Given the description of an element on the screen output the (x, y) to click on. 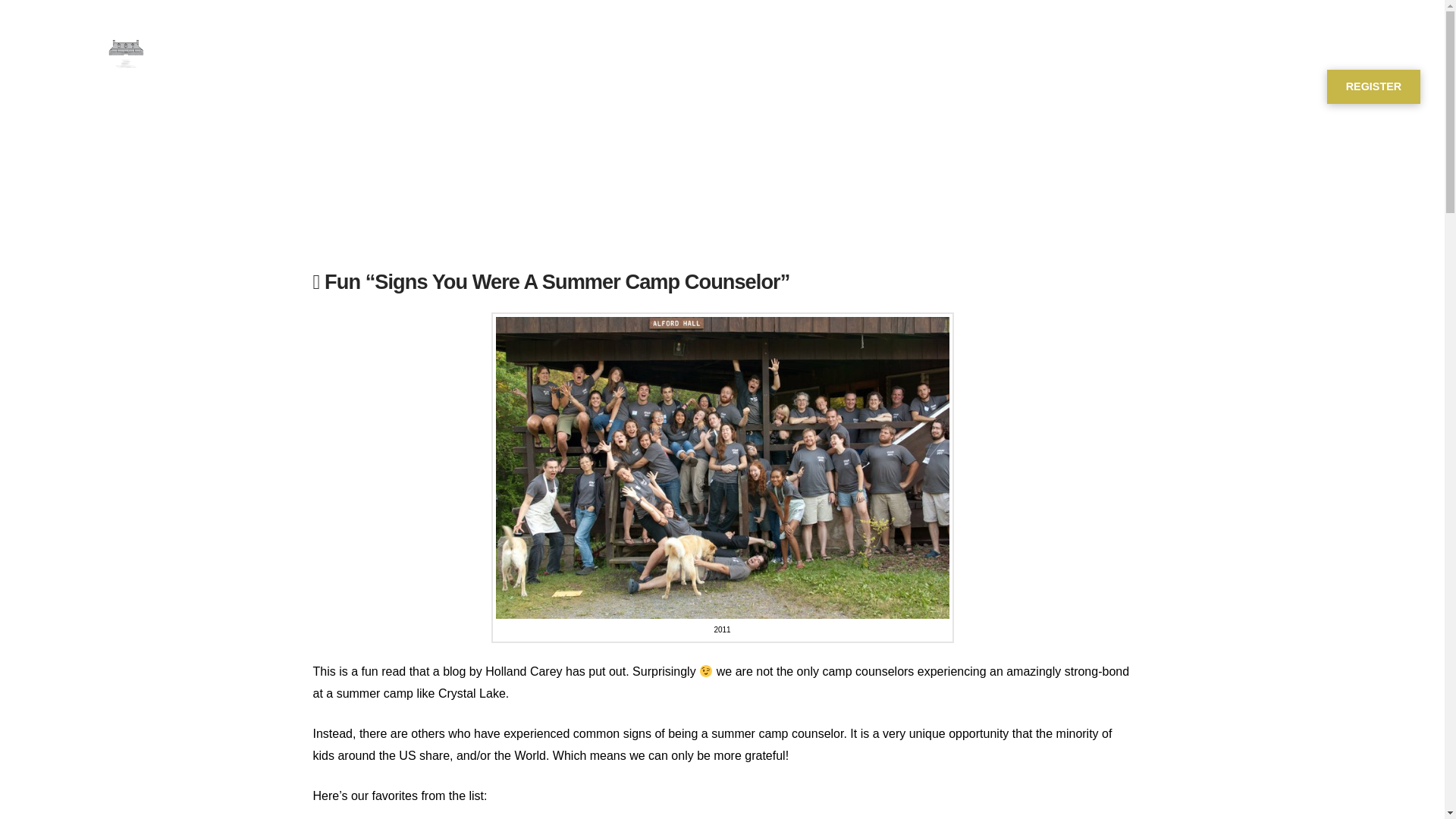
Youth (517, 86)
About (710, 86)
Employment (901, 86)
75th Anniversary (1011, 86)
Support Us (799, 86)
